Given the description of an element on the screen output the (x, y) to click on. 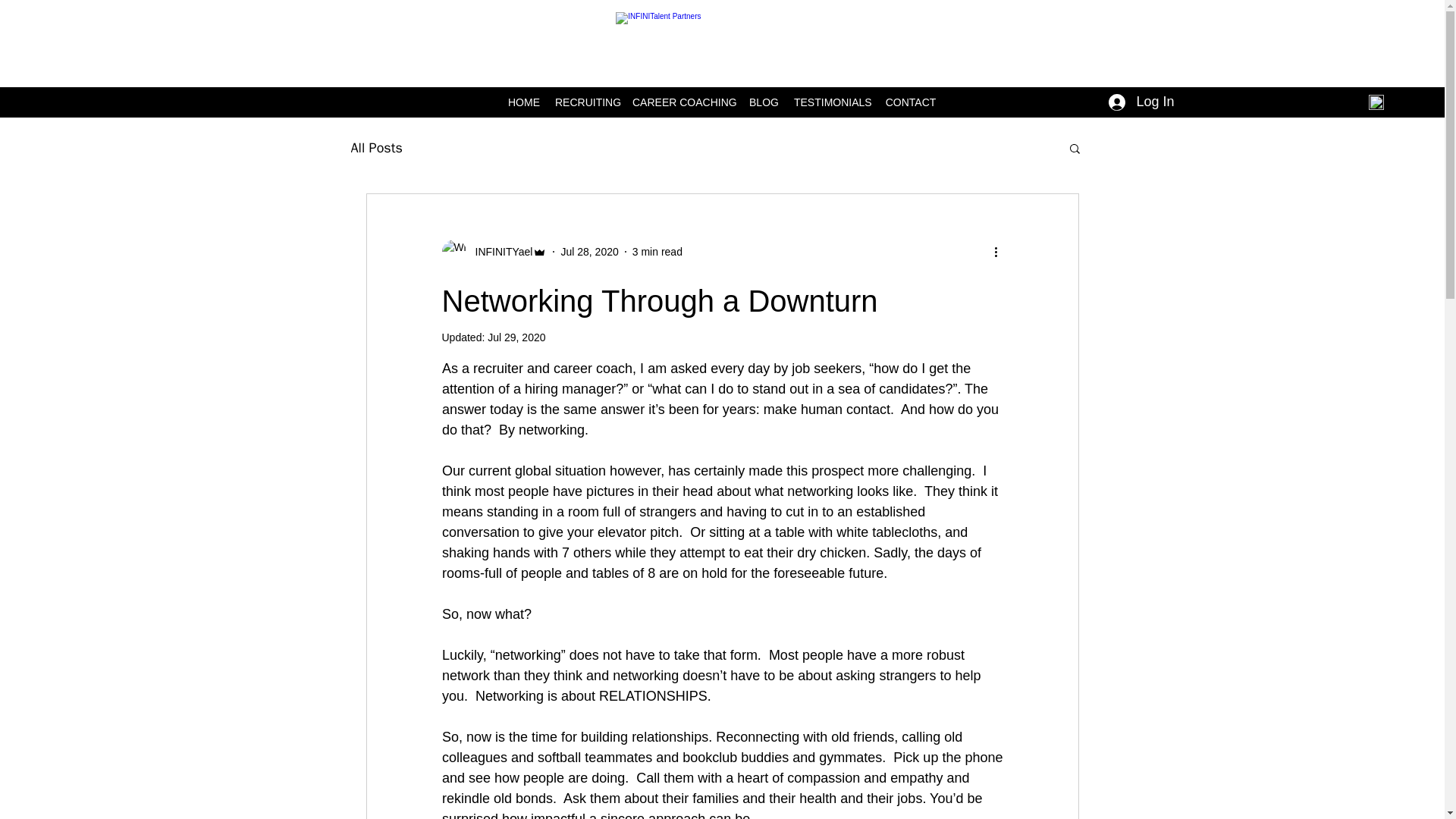
Log In (1141, 101)
CONTACT (910, 101)
CAREER COACHING (682, 101)
RECRUITING (585, 101)
3 min read (656, 251)
BLOG (763, 101)
HOME (523, 101)
Jul 28, 2020 (588, 251)
Jul 29, 2020 (515, 337)
TESTIMONIALS (831, 101)
